Given the description of an element on the screen output the (x, y) to click on. 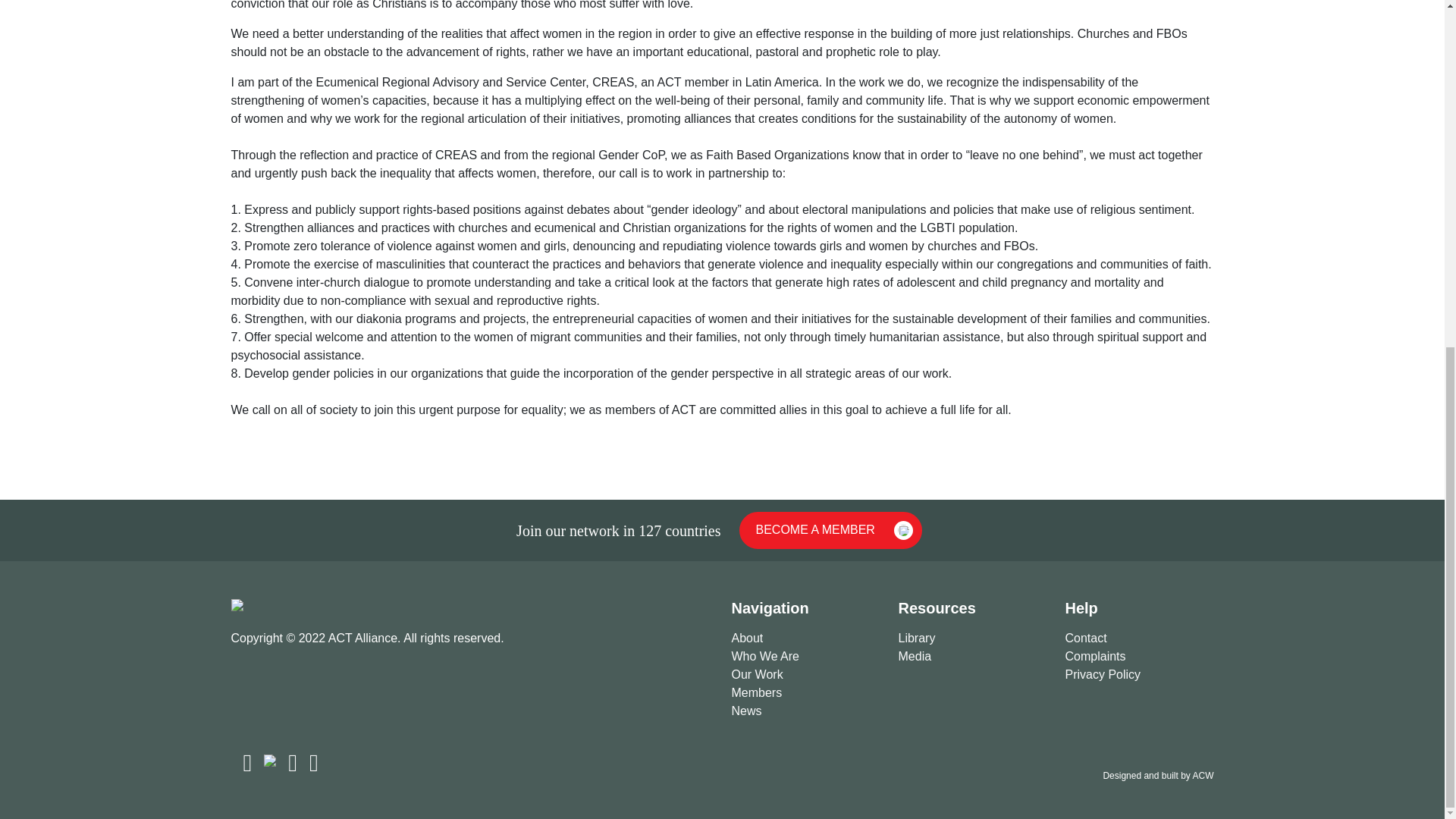
About (804, 638)
Privacy Policy (1138, 674)
Contact (1138, 638)
Our Work (804, 674)
BECOME A MEMBER (830, 529)
Library (972, 638)
Members (804, 692)
Complaints (1138, 656)
Media (972, 656)
News (804, 710)
